Given the description of an element on the screen output the (x, y) to click on. 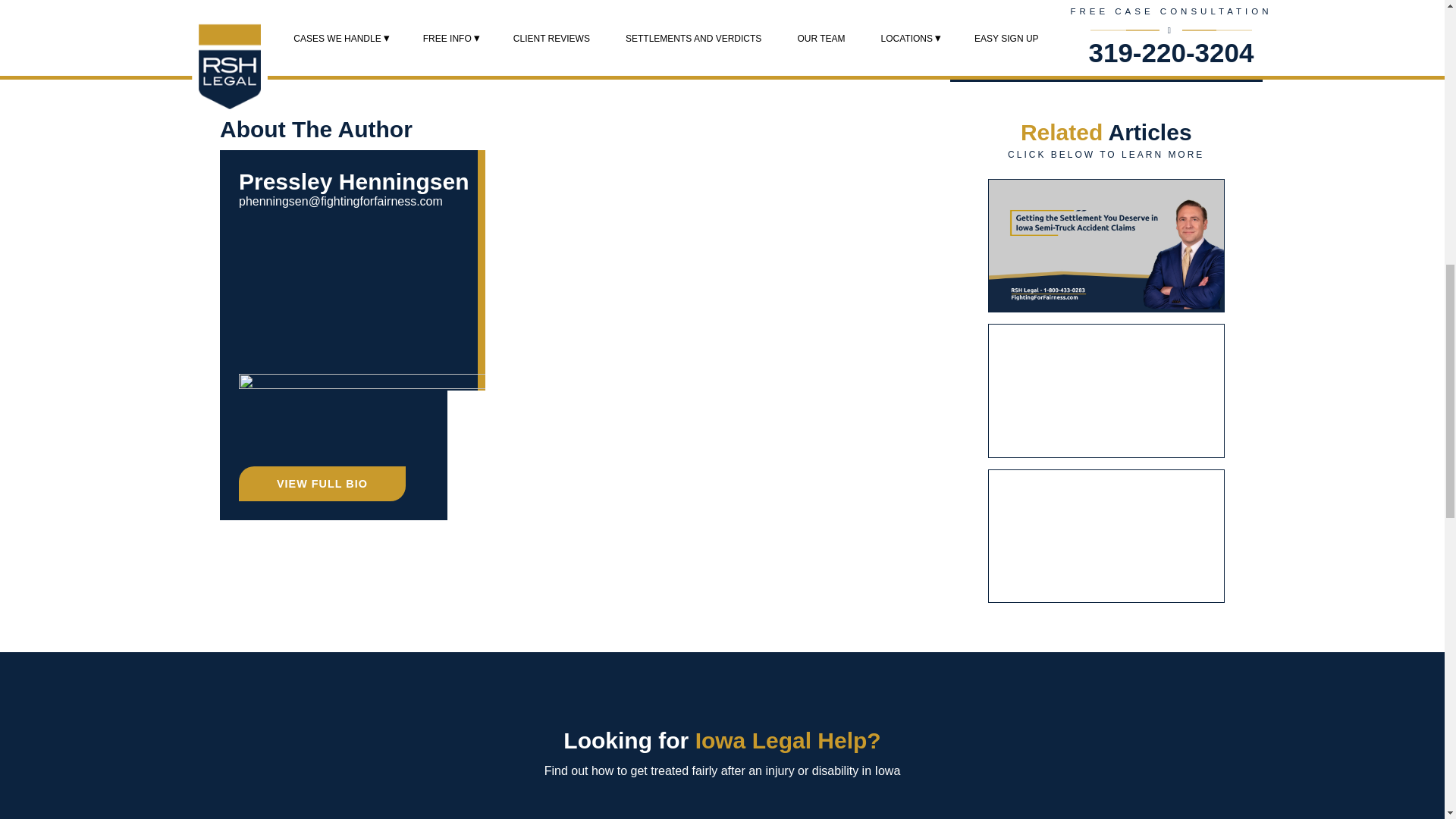
Get FREE Guide (1106, 36)
VIEW FULL BIO (322, 483)
Pressley Henningsen (353, 181)
